Given the description of an element on the screen output the (x, y) to click on. 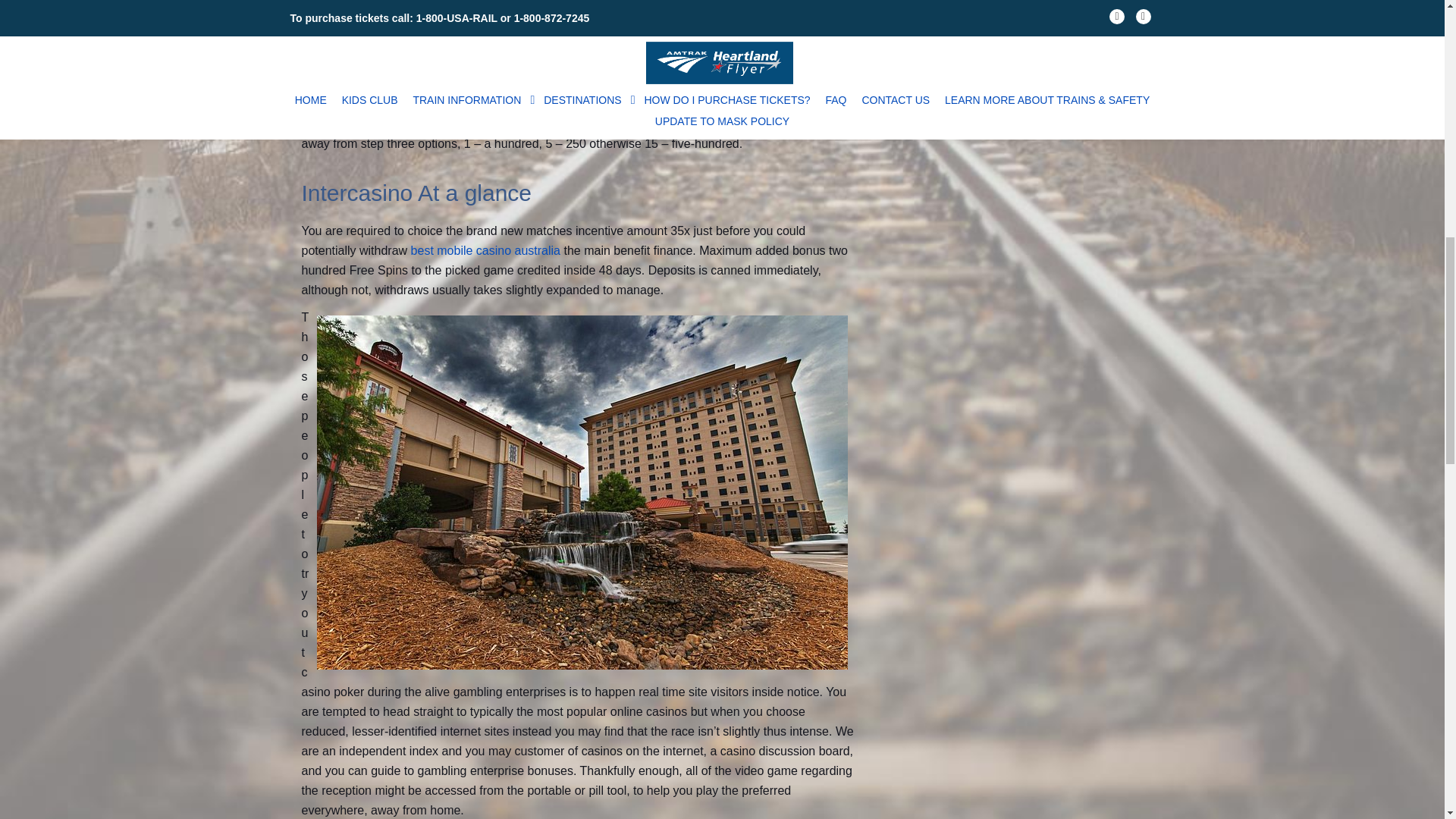
best mobile casino australia (485, 250)
